Given the description of an element on the screen output the (x, y) to click on. 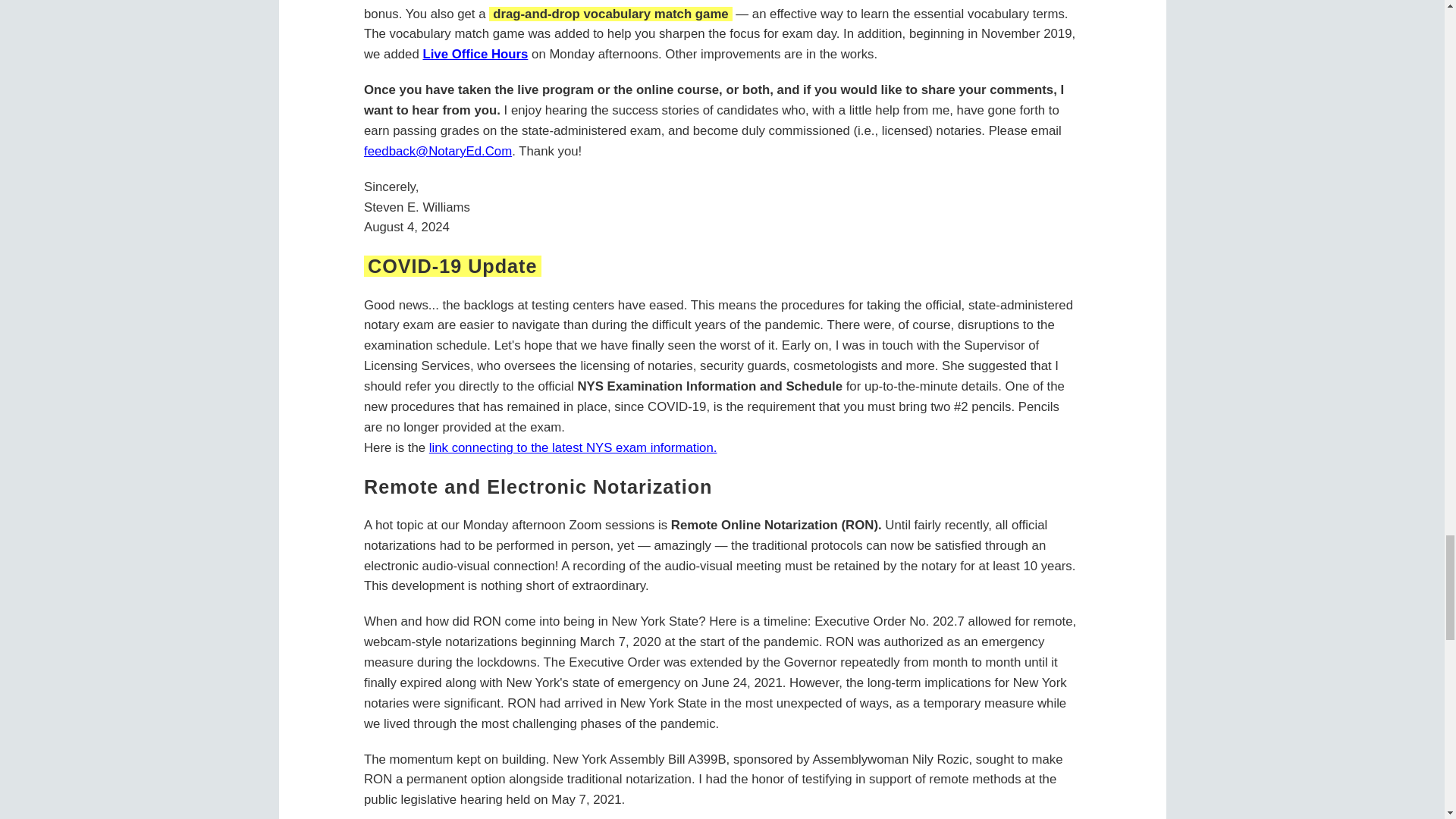
Live Office Hours (474, 53)
link connecting to the latest NYS exam information. (573, 447)
